Given the description of an element on the screen output the (x, y) to click on. 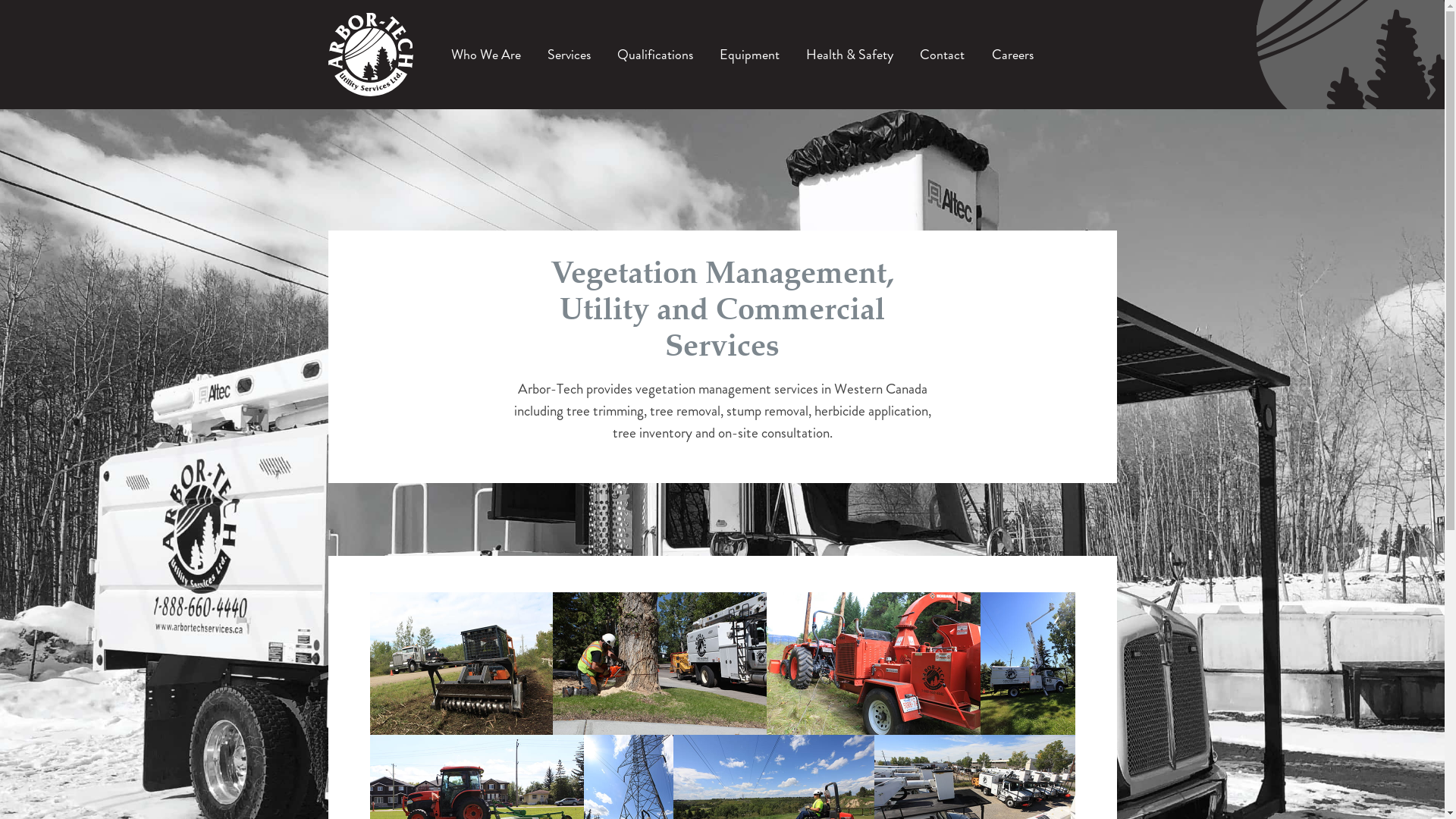
Contact Element type: text (941, 54)
Careers Element type: text (1012, 54)
Who We Are Element type: text (485, 54)
Health & Safety Element type: text (849, 54)
Qualifications Element type: text (655, 54)
Services Element type: text (568, 54)
Equipment Element type: text (749, 54)
